Given the description of an element on the screen output the (x, y) to click on. 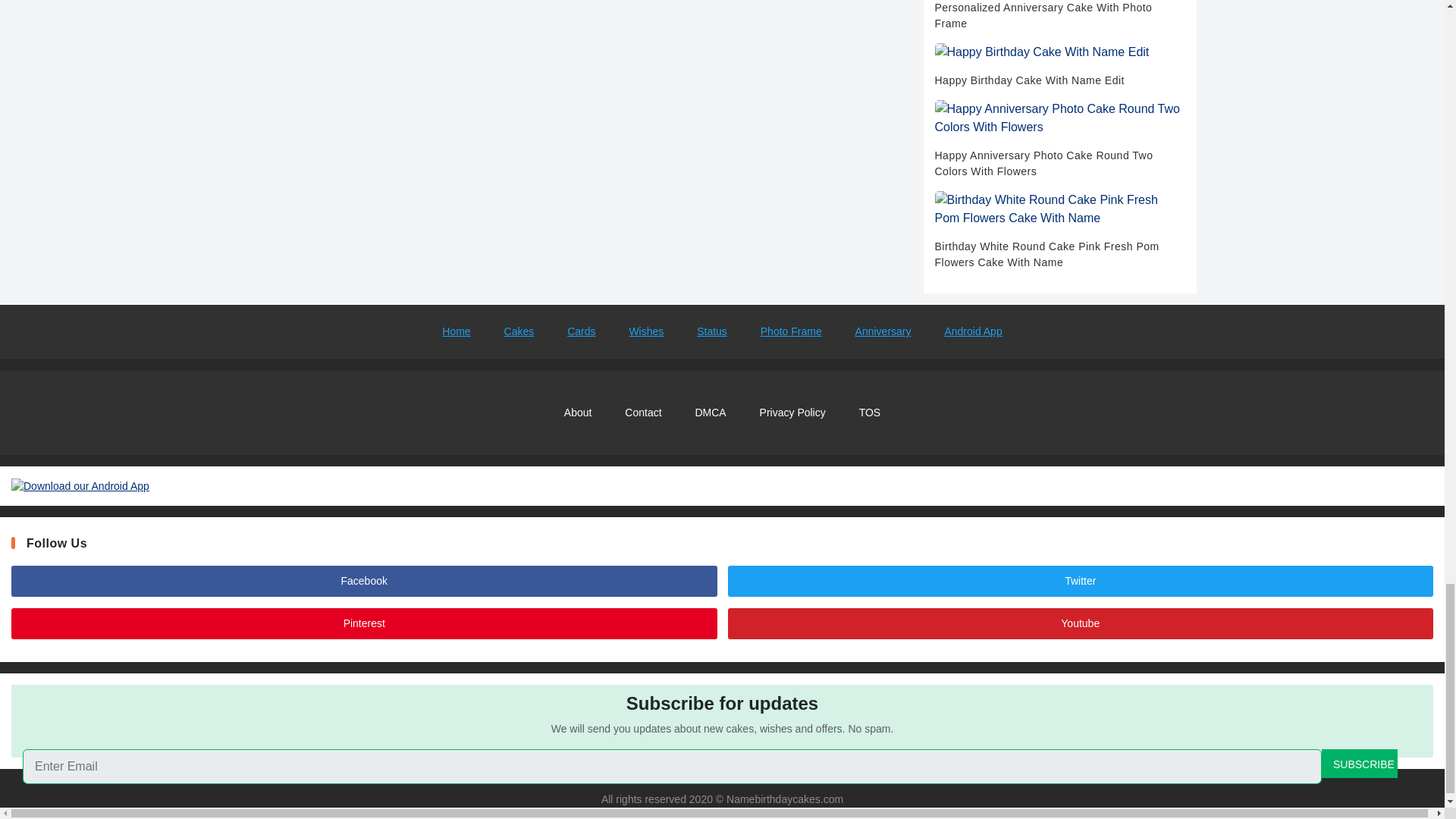
Happy Anniversary Photo Cake Round Two Colors With Flowers (1059, 139)
Personalized Anniversary Cake With Photo Frame (1059, 15)
Happy Birthday Cake With Name Edit (1059, 65)
